Given the description of an element on the screen output the (x, y) to click on. 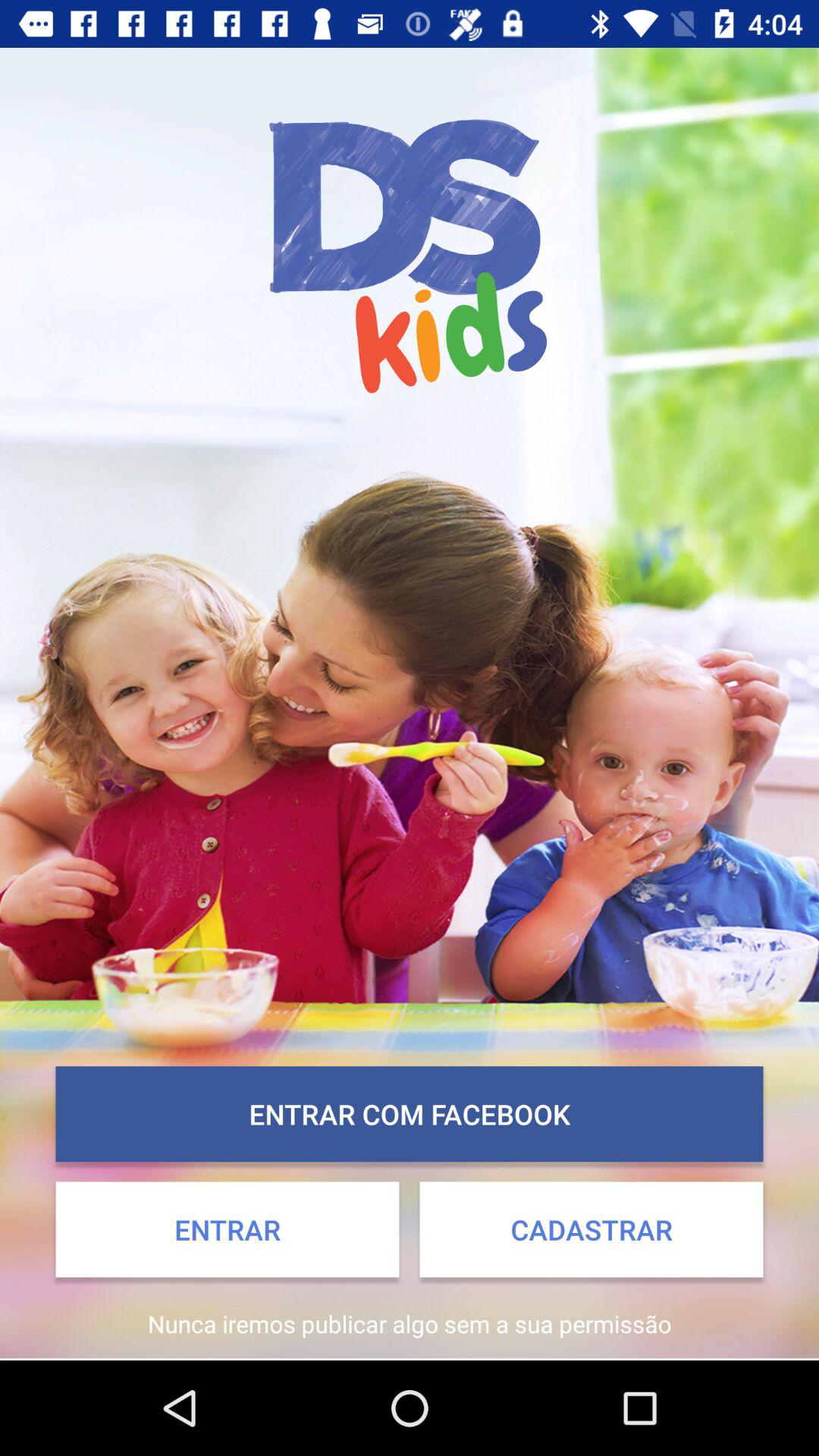
press the app above nunca iremos publicar app (591, 1229)
